Given the description of an element on the screen output the (x, y) to click on. 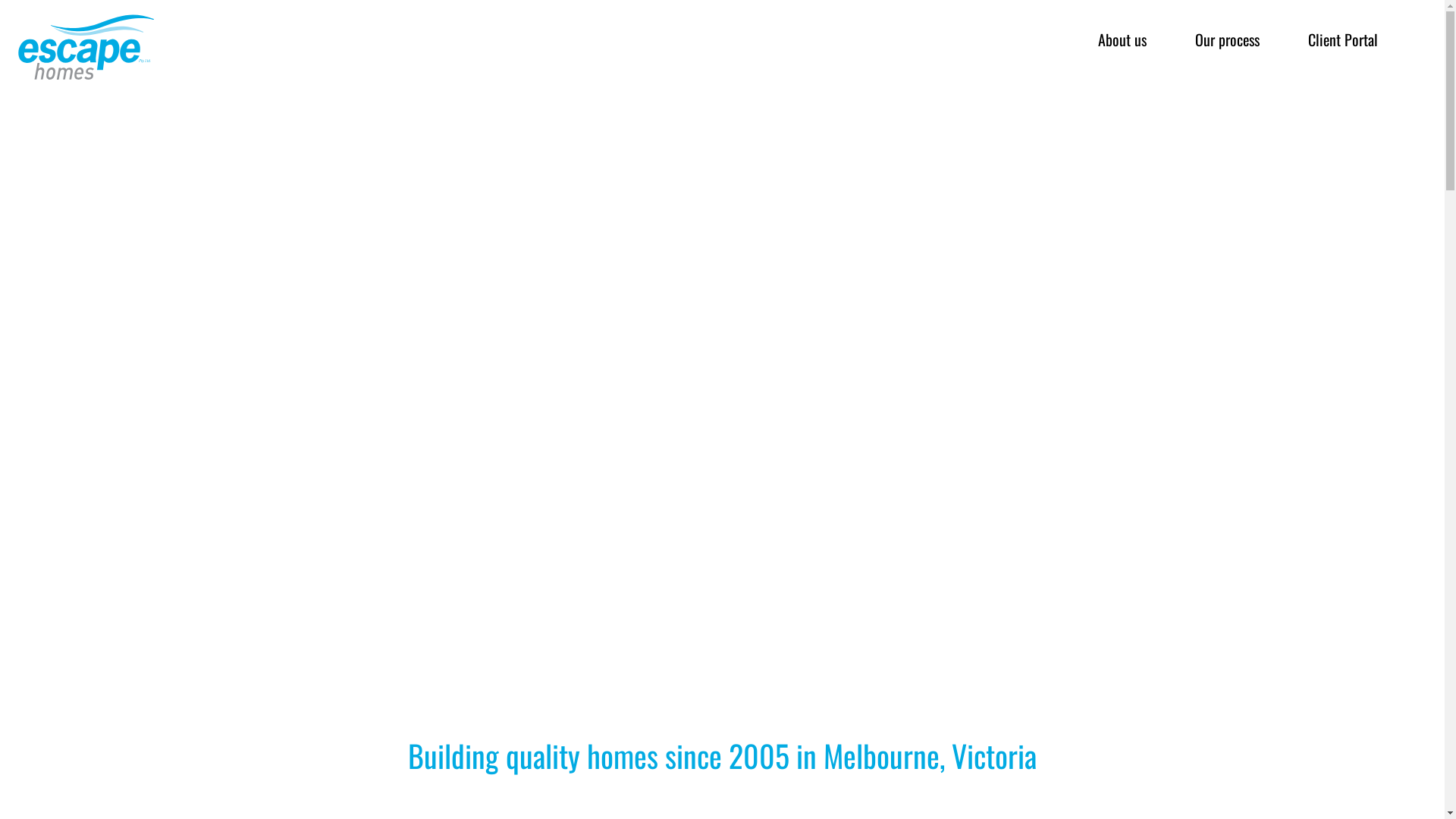
Our process Element type: text (1227, 39)
About us Element type: text (1122, 39)
Client Portal Element type: text (1342, 39)
